Given the description of an element on the screen output the (x, y) to click on. 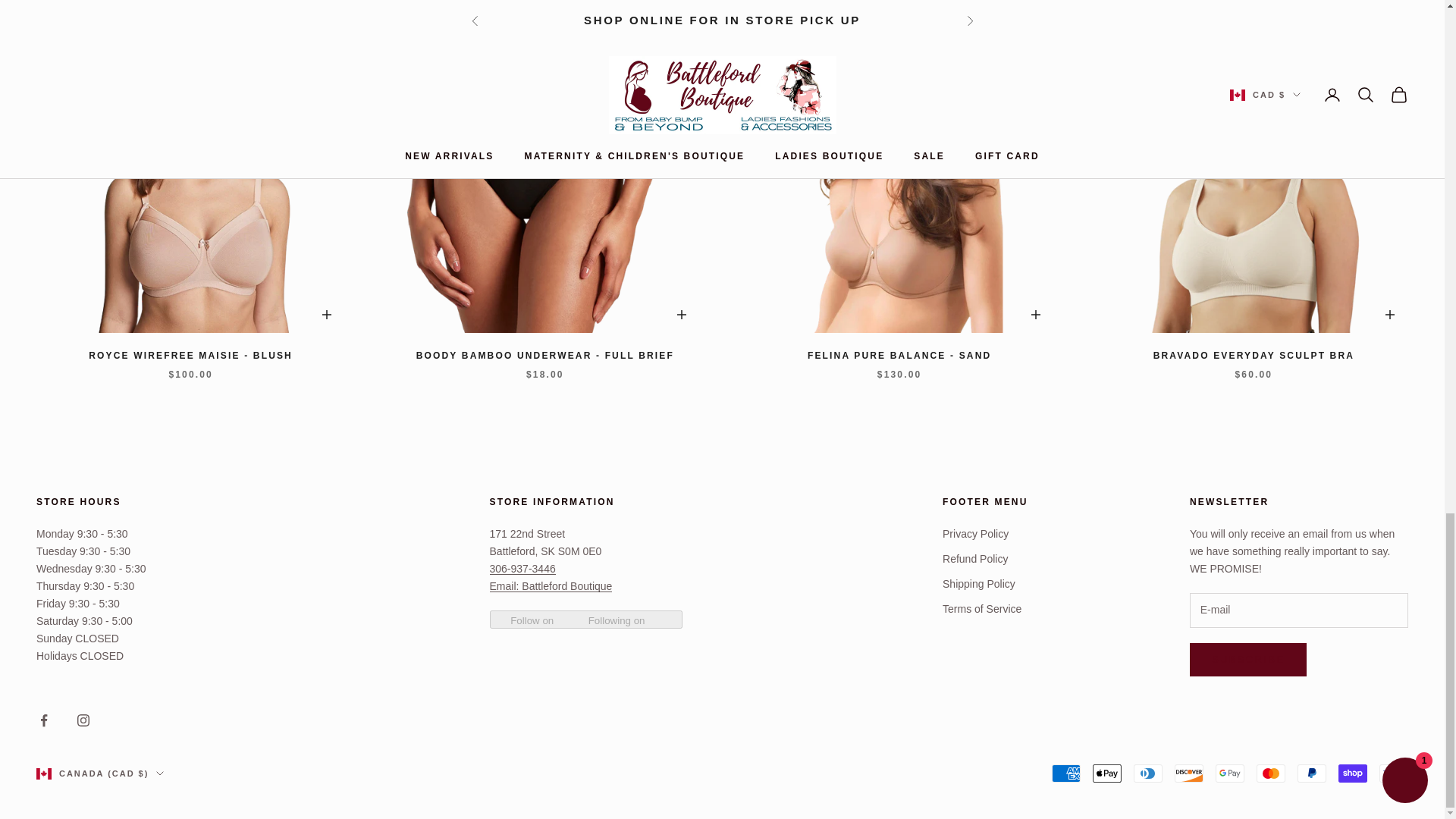
tel:306-937-3446 (522, 568)
